Given the description of an element on the screen output the (x, y) to click on. 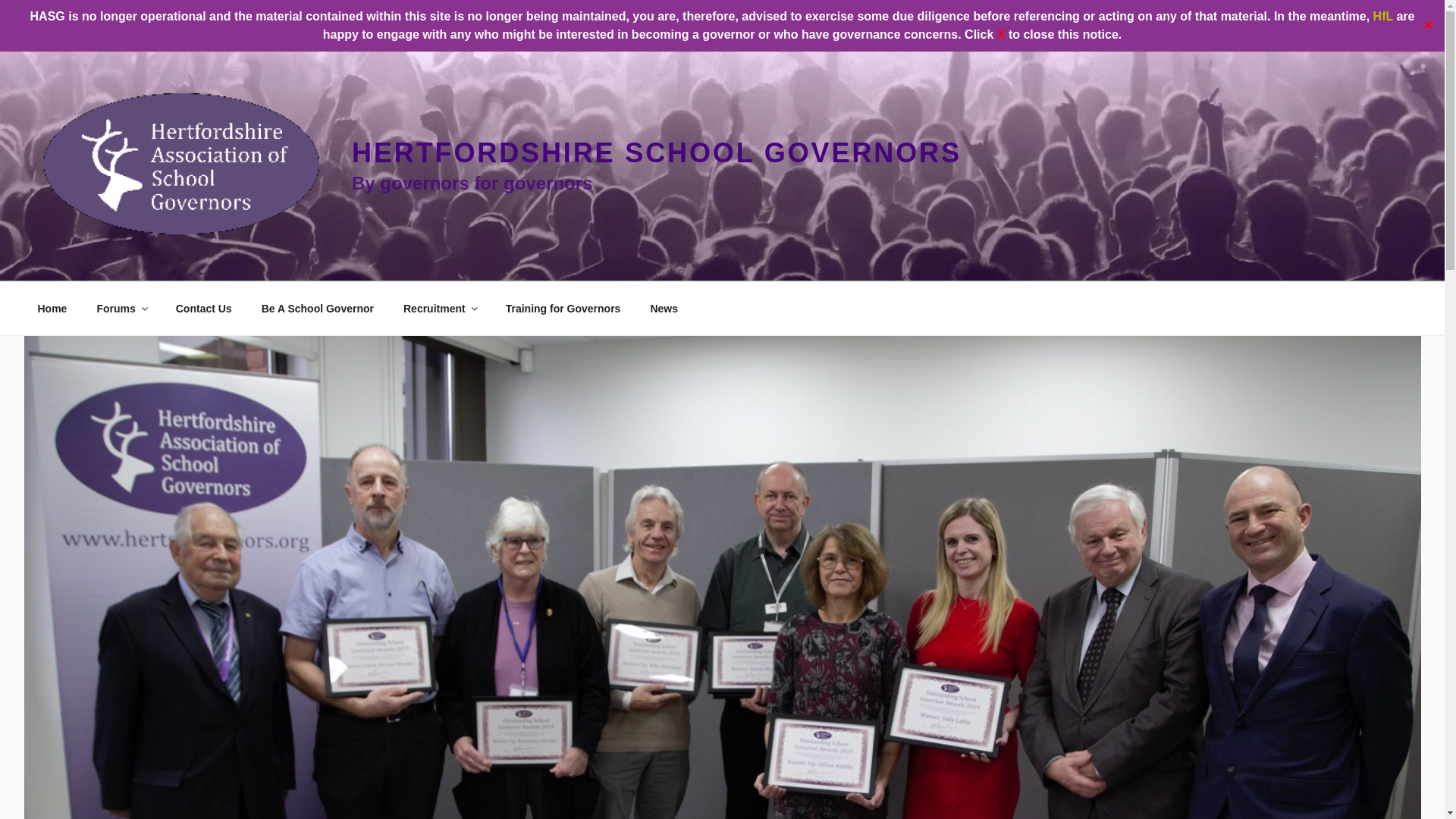
Training for Governors (562, 307)
Contact Us (202, 307)
HfL (1383, 15)
Recruitment (439, 307)
News (664, 307)
Forums (120, 307)
Be A School Governor (317, 307)
Home (52, 307)
HERTFORDSHIRE SCHOOL GOVERNORS (656, 152)
